Given the description of an element on the screen output the (x, y) to click on. 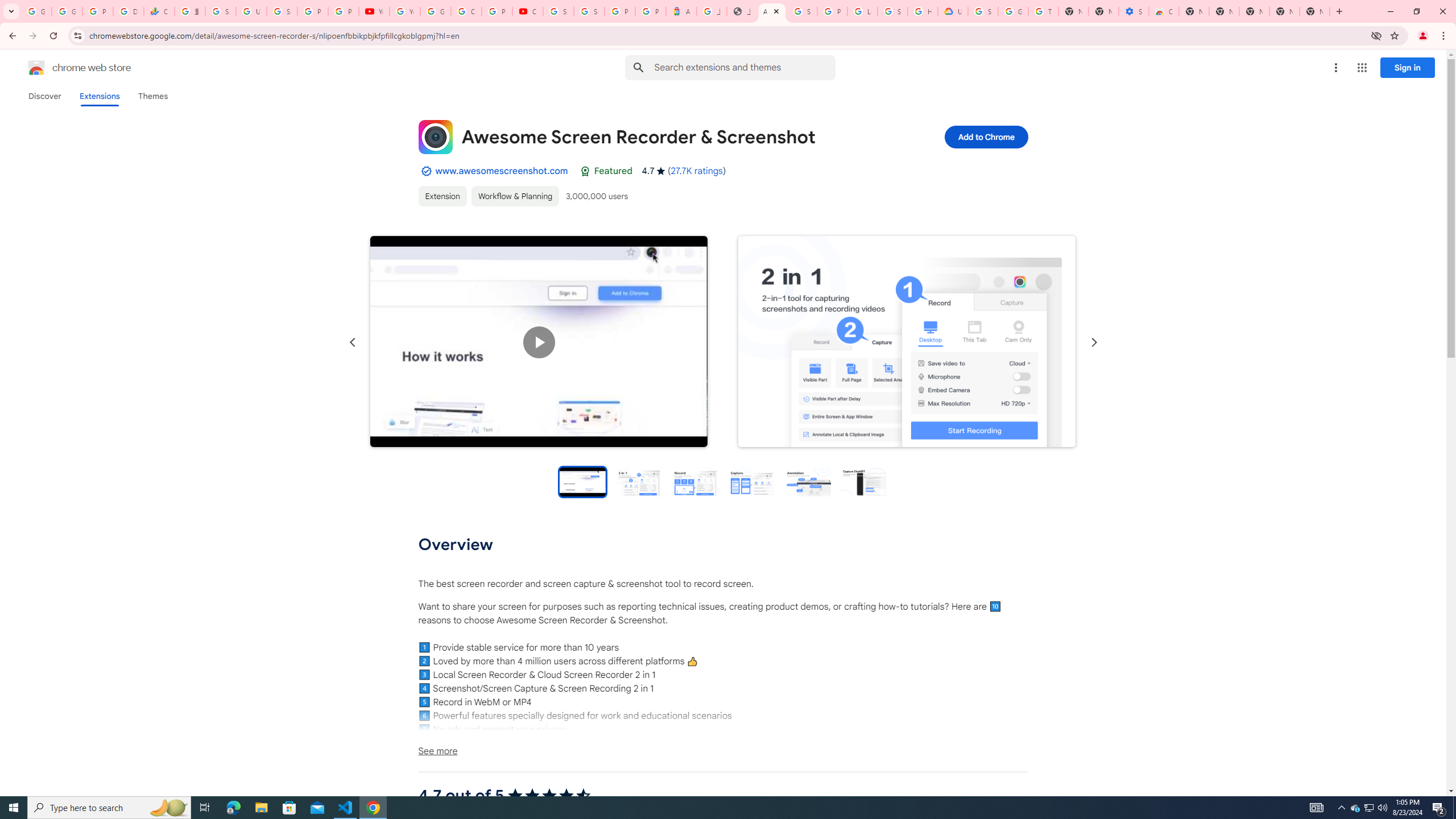
4.7 out of 5 stars (549, 795)
Chrome Web Store logo (36, 67)
Sign in - Google Accounts (220, 11)
Preview slide 5 (807, 481)
Previous slide (352, 342)
Sign in - Google Accounts (892, 11)
New Tab (1193, 11)
Content Creator Programs & Opportunities - YouTube Creators (527, 11)
